Given the description of an element on the screen output the (x, y) to click on. 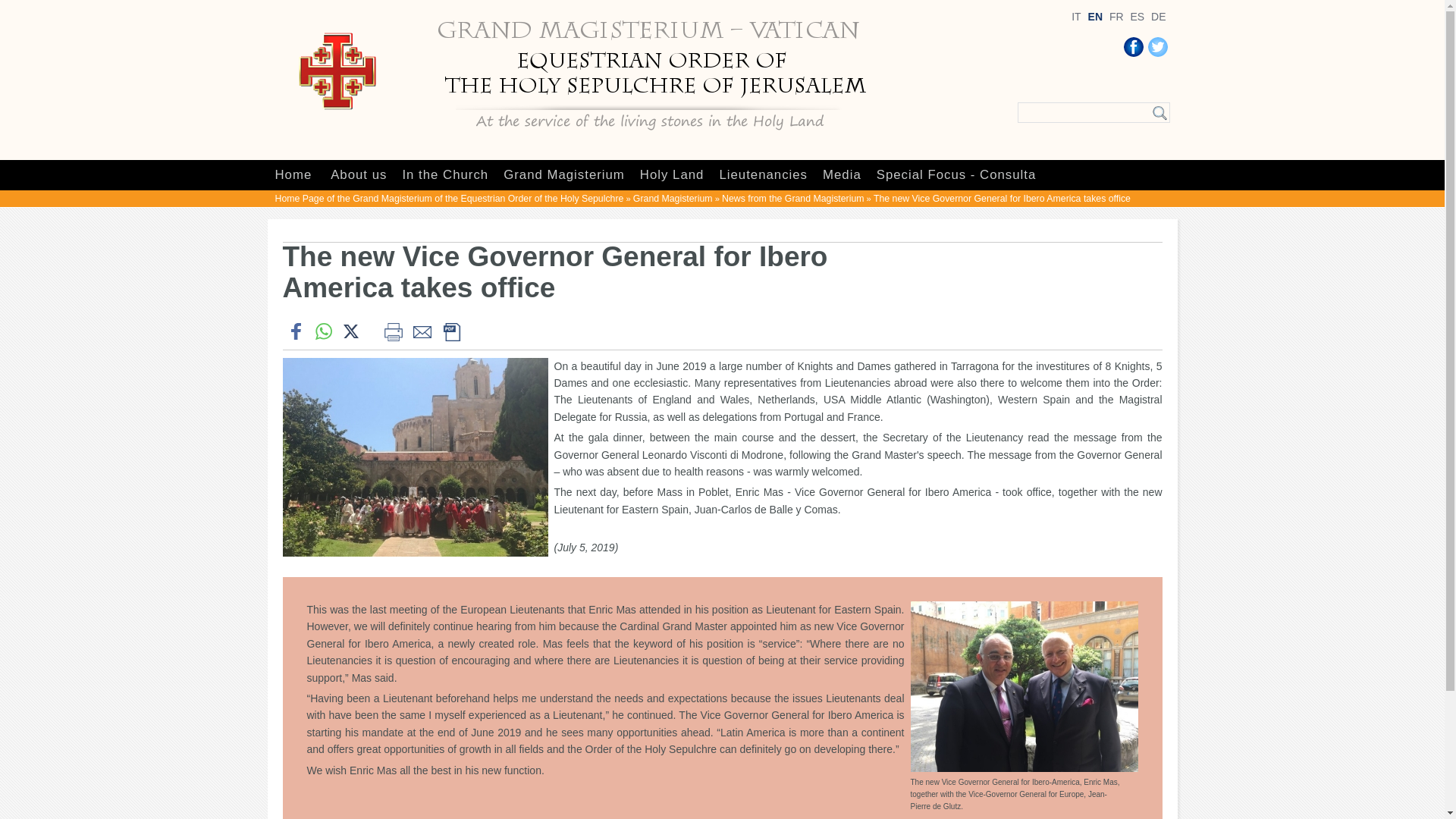
DE (1158, 16)
Print (392, 331)
Holy Land (672, 174)
Grand Magisterium (563, 174)
ES (1136, 16)
Facebook (1133, 46)
Media (841, 174)
About us (358, 174)
Search (1160, 112)
